Given the description of an element on the screen output the (x, y) to click on. 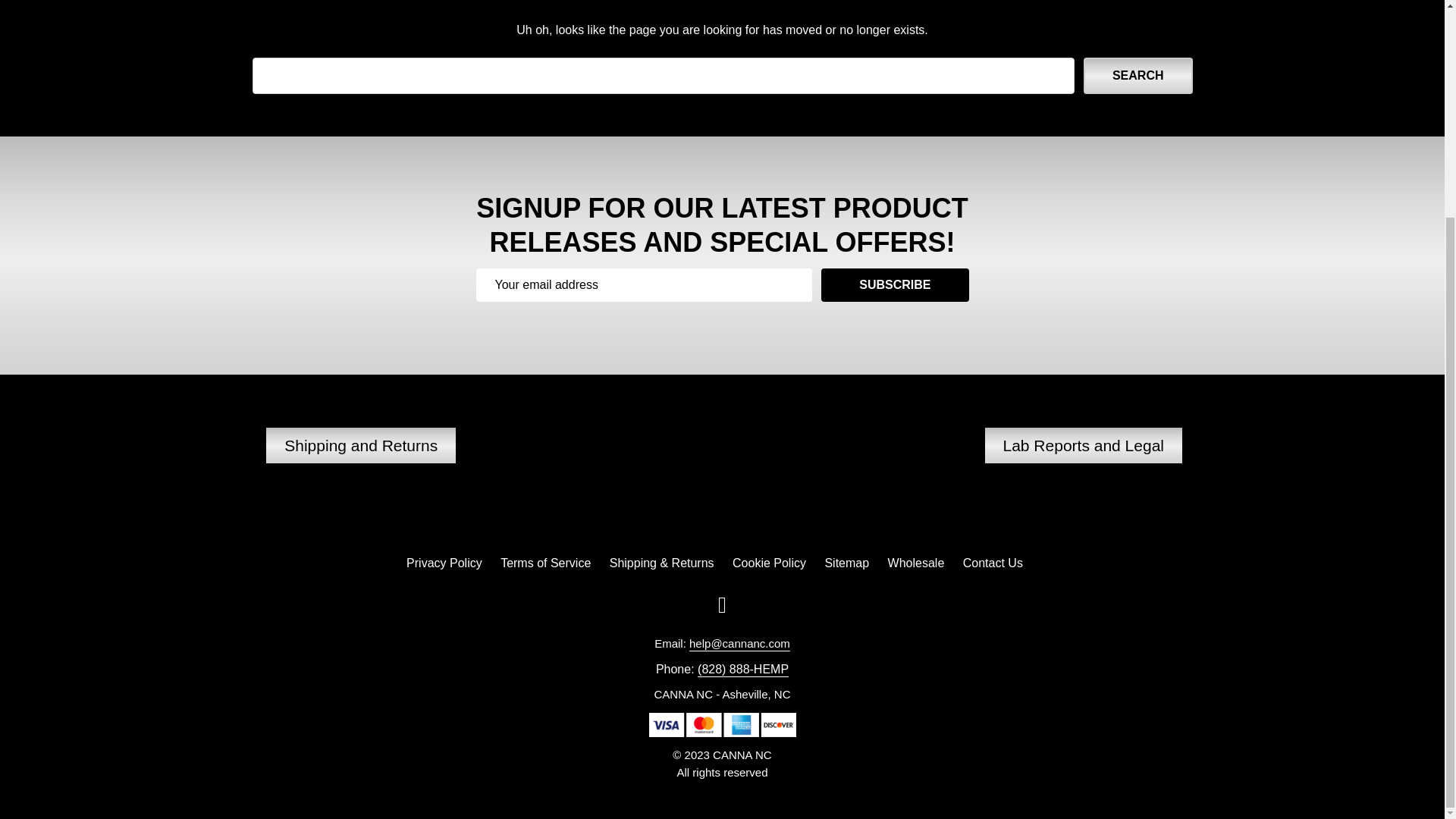
Cookie Policy (769, 562)
Sitemap (846, 562)
Terms of Service (545, 562)
SUBSCRIBE (894, 285)
Privacy Policy (443, 562)
Search (1137, 75)
Wholesale (916, 562)
Contact Us (992, 562)
Shipping and Returns (360, 445)
Search (1137, 75)
